Given the description of an element on the screen output the (x, y) to click on. 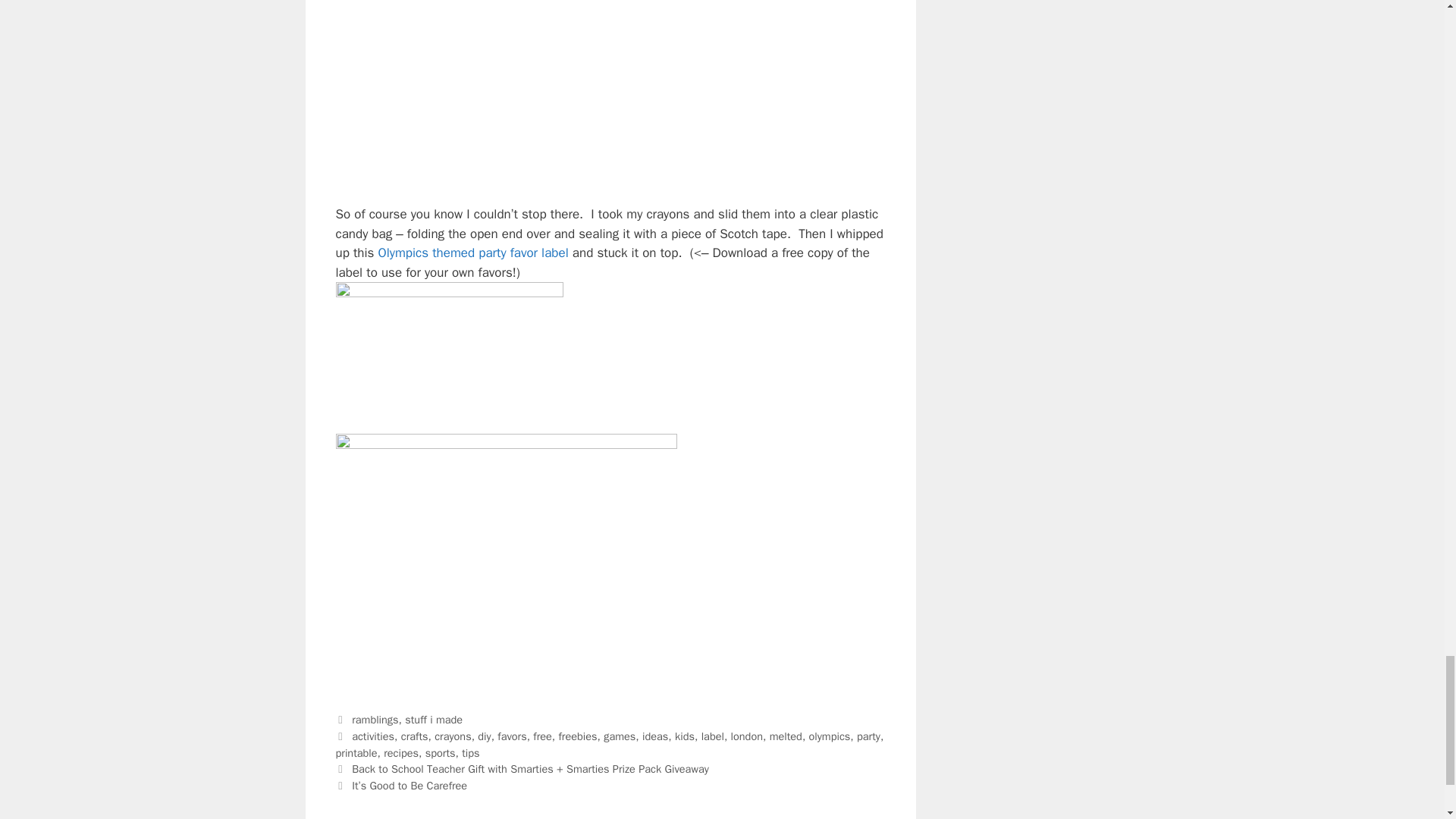
crafts (414, 735)
ramblings (374, 719)
crayons (451, 735)
stuff i made (433, 719)
Olympics themed party favor label (473, 252)
activities (373, 735)
olympics crayons label TCL (448, 357)
Olympics Crayons TCL a (505, 92)
